Given the description of an element on the screen output the (x, y) to click on. 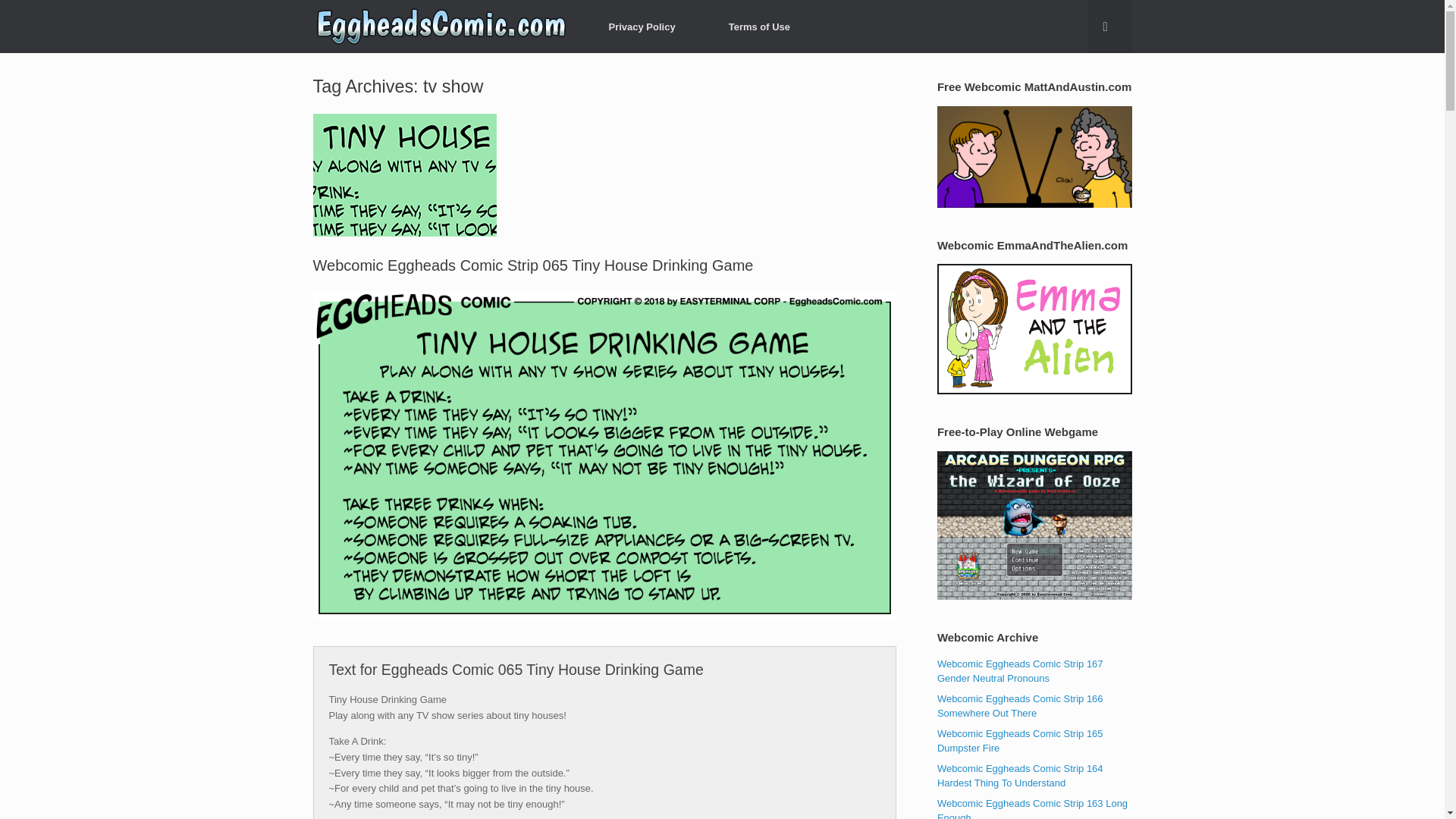
Webcomic Eggheads Comic Strip 163 Long Enough (1031, 808)
Webcomic Eggheads Comic Strip 167 Gender Neutral Pronouns (1020, 671)
Eggheads Comic (441, 26)
Free-to-Play Online Webgame (1034, 525)
Terms of Use (758, 25)
Free Webcomic MattAndAustin.com (1034, 157)
Webcomic EmmaAndTheAlien.com (1034, 328)
Webcomic Eggheads Comic Strip 166 Somewhere Out There (1020, 705)
Privacy Policy (641, 25)
Webcomic Eggheads Comic Strip 065 Tiny House Drinking Game (532, 265)
Webcomic Eggheads Comic Strip 165 Dumpster Fire (1020, 741)
